Given the description of an element on the screen output the (x, y) to click on. 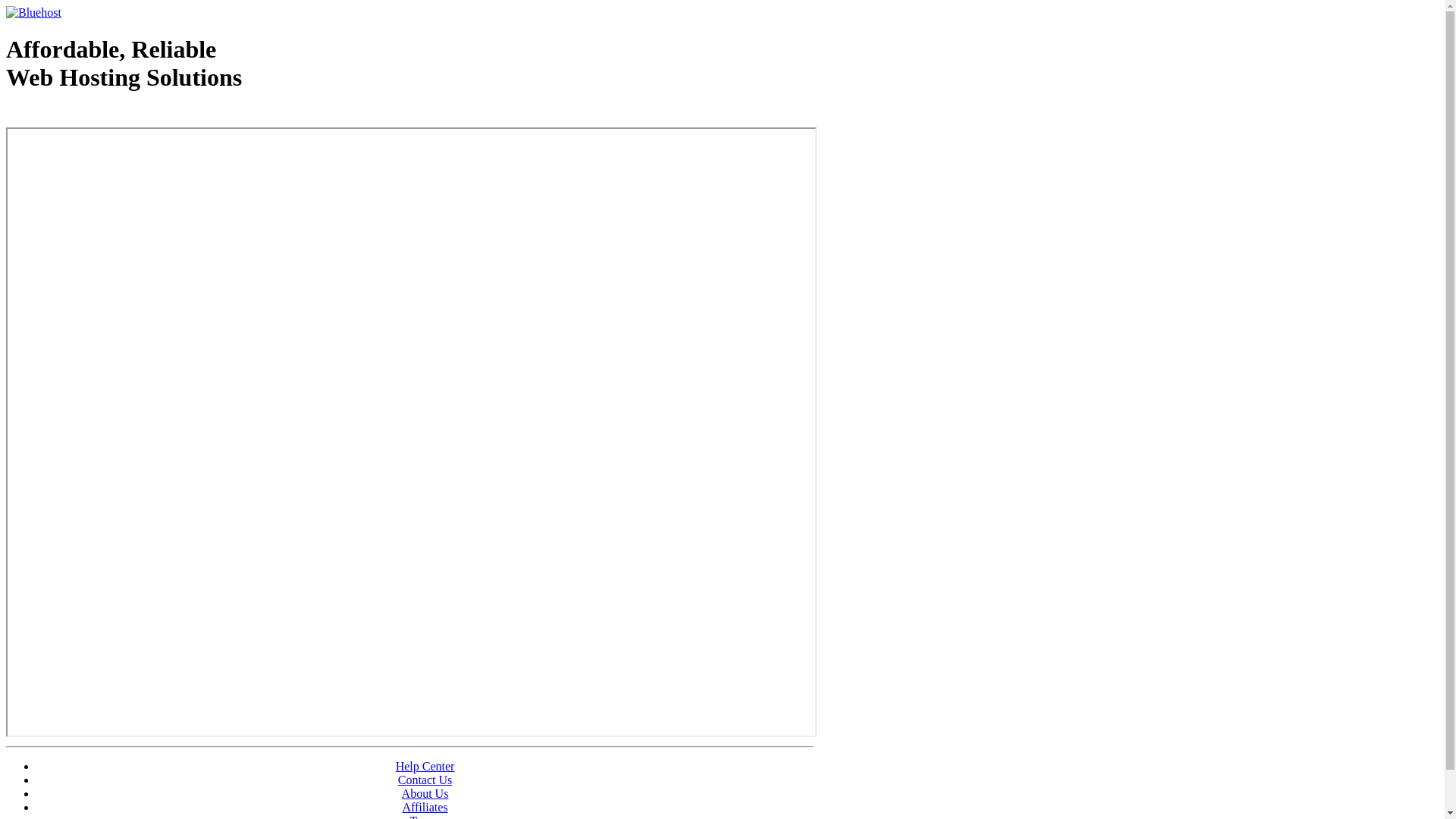
Affiliates Element type: text (424, 806)
Web Hosting - courtesy of www.bluehost.com Element type: text (94, 115)
Contact Us Element type: text (425, 779)
About Us Element type: text (424, 793)
Help Center Element type: text (425, 765)
